Given the description of an element on the screen output the (x, y) to click on. 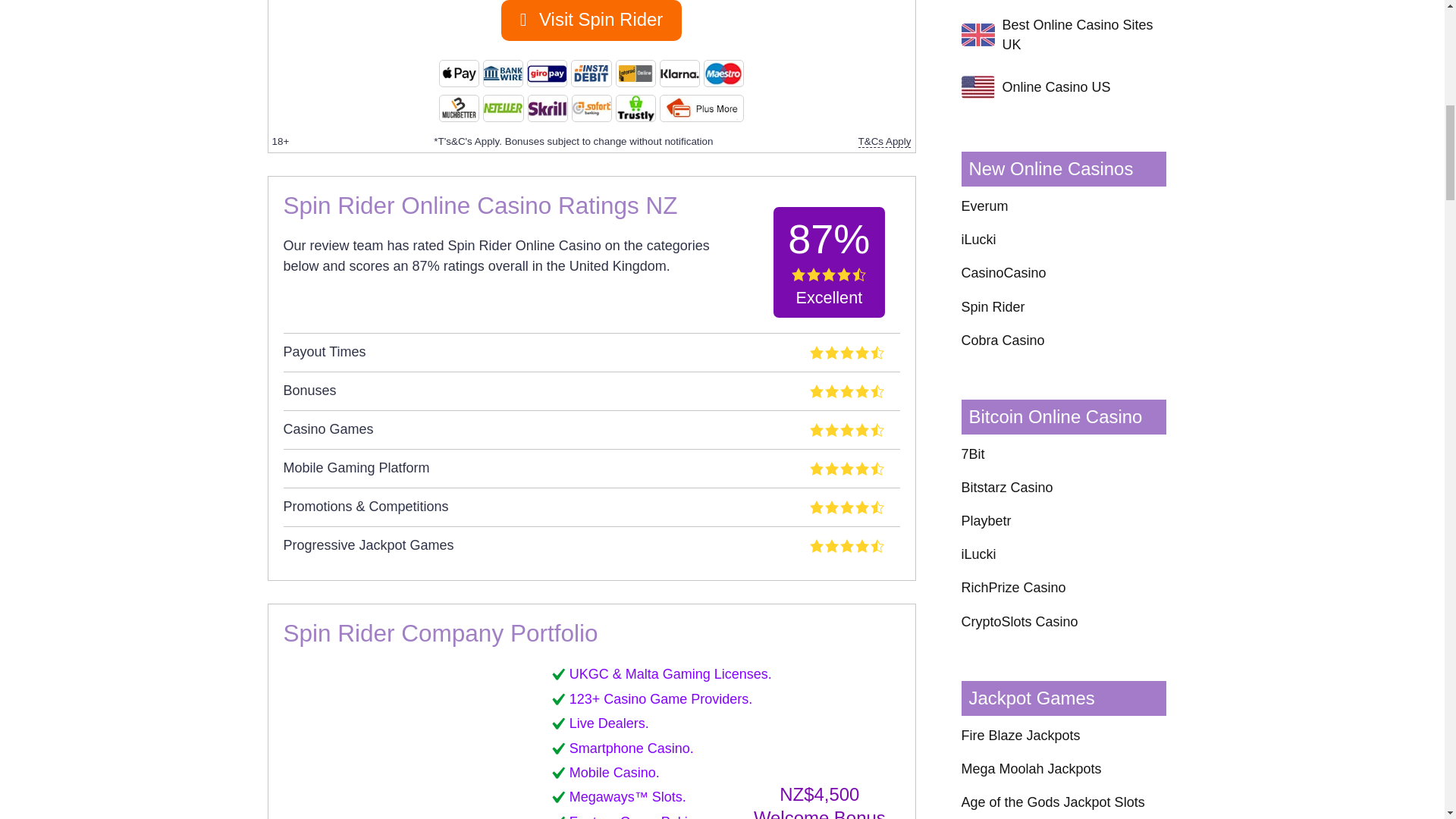
Casino Like (372, 740)
United Kingdom Online Casinos (977, 34)
